Given the description of an element on the screen output the (x, y) to click on. 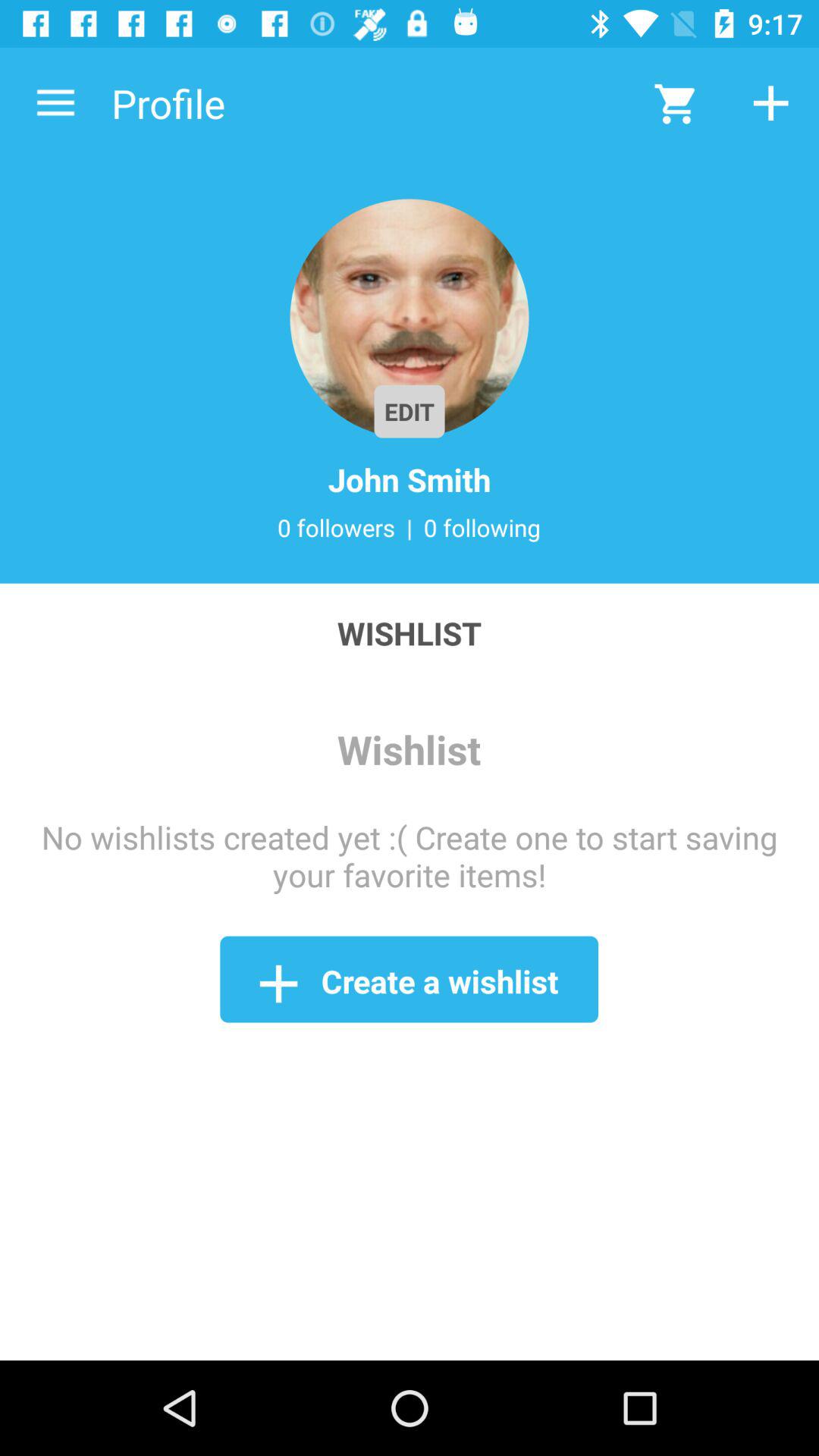
click item above the wishlist item (55, 103)
